Given the description of an element on the screen output the (x, y) to click on. 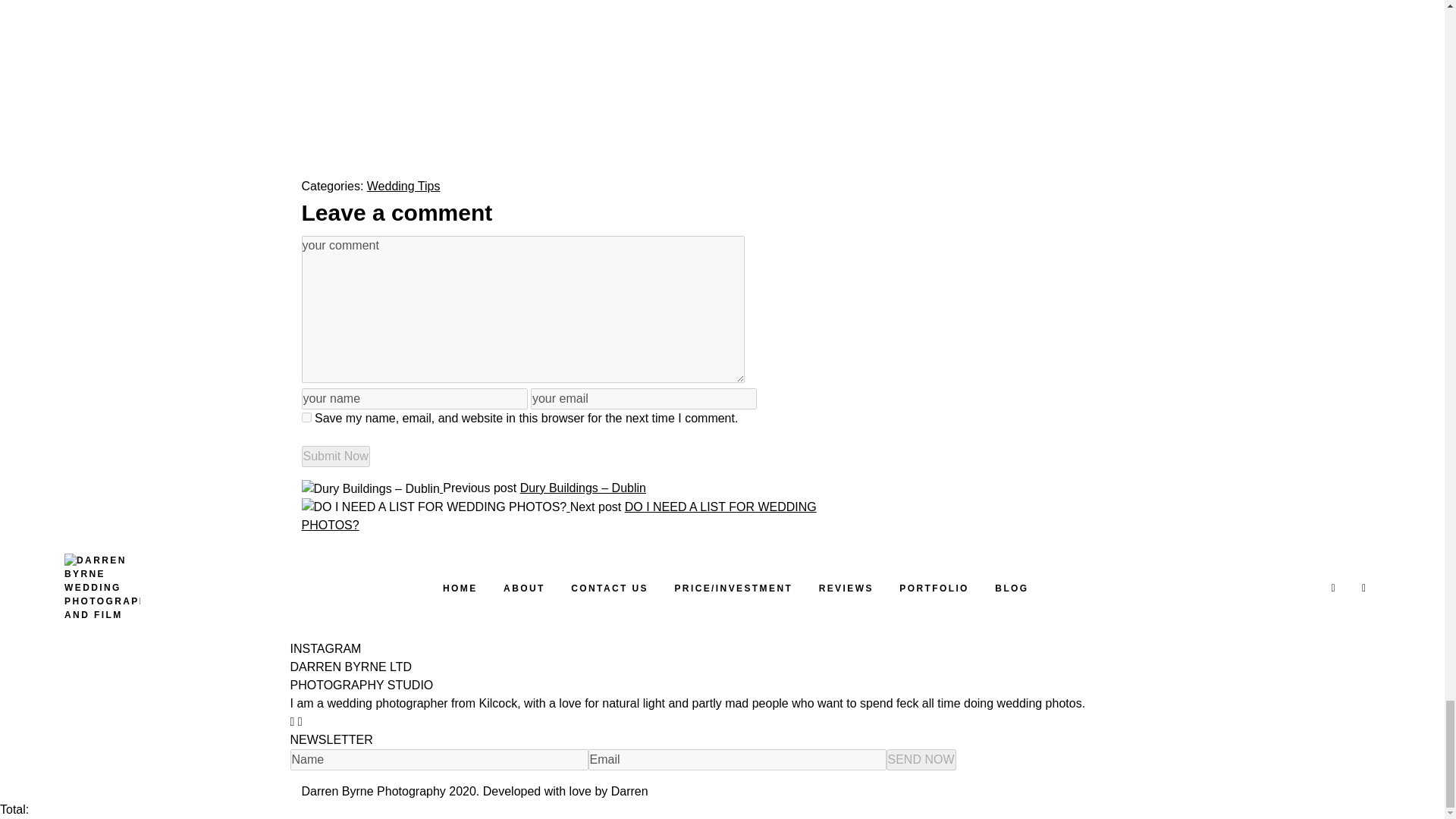
yes (306, 417)
Wedding Tips (403, 185)
PORTFOLIO (934, 588)
BLOG (1010, 588)
REVIEWS (845, 588)
ABOUT (523, 588)
SEND NOW (920, 759)
HOME (459, 588)
CONTACT US (608, 588)
Submit Now (335, 455)
SEND NOW (920, 759)
DO I NEED A LIST FOR WEDDING PHOTOS? (558, 516)
Submit Now (335, 455)
